Given the description of an element on the screen output the (x, y) to click on. 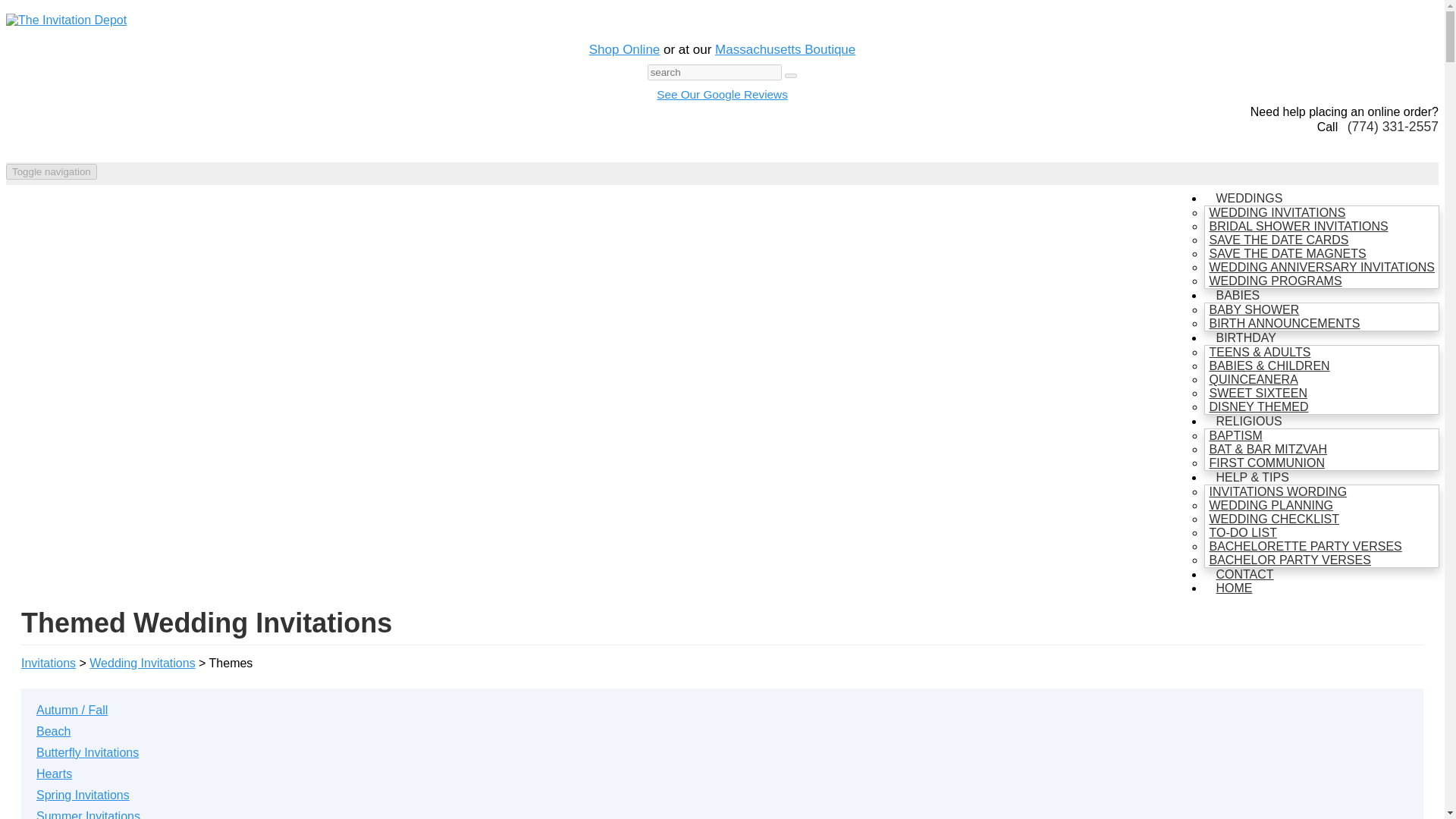
BACHELOR PARTY VERSES (1289, 559)
BABIES (1237, 295)
RELIGIOUS (1248, 421)
WEDDINGS (1249, 198)
CONTACT (1244, 574)
SWEET SIXTEEN (1258, 393)
BIRTHDAY (1245, 337)
BAPTISM (1235, 435)
DISNEY THEMED (1258, 406)
WEDDING PLANNING (1270, 505)
